Given the description of an element on the screen output the (x, y) to click on. 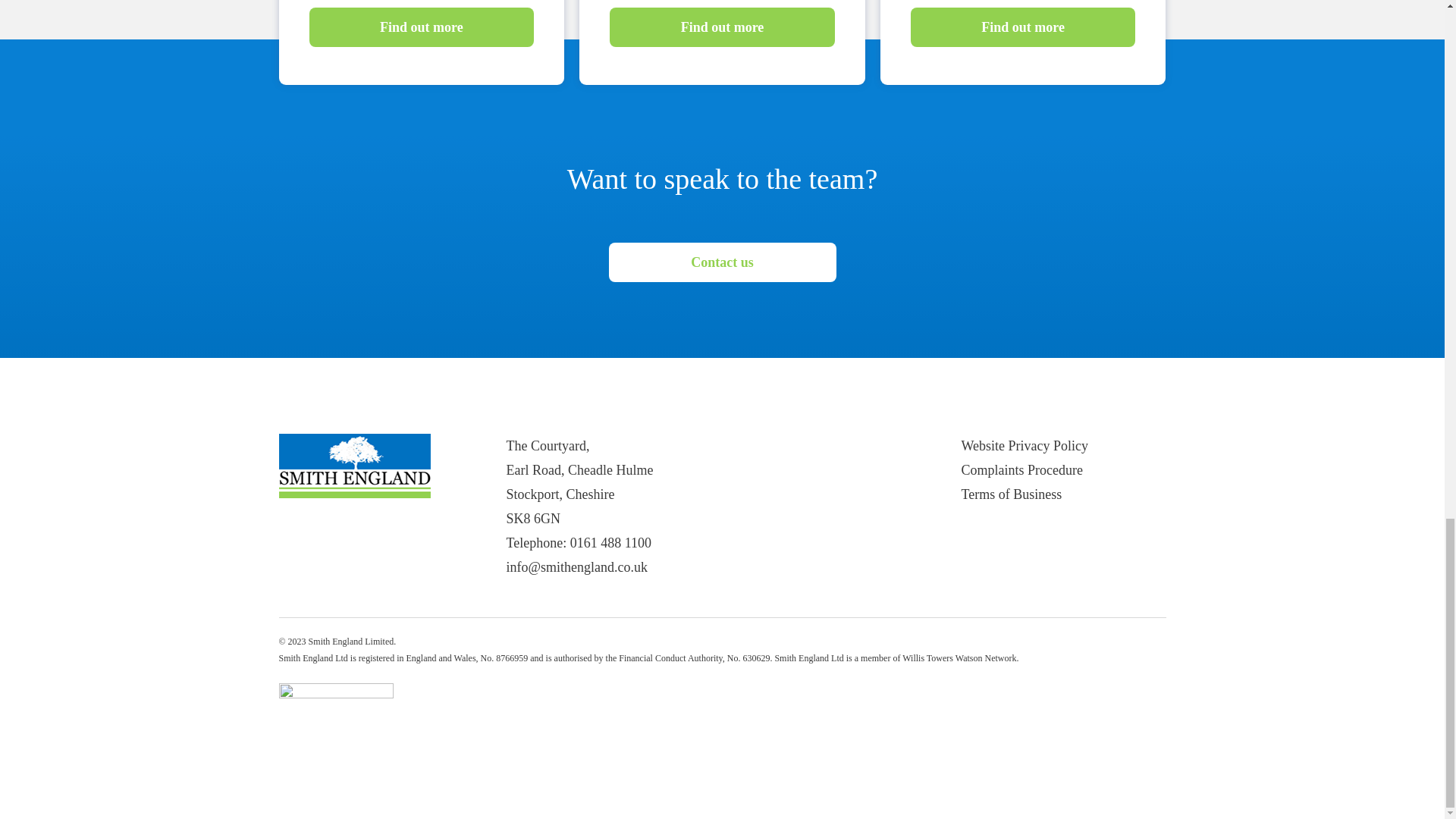
Find out more (722, 26)
Terms of Business (1011, 494)
Find out more (421, 26)
Website Privacy Policy (1024, 445)
0161 488 1100 (610, 542)
Contact us (721, 263)
Complaints Procedure (1021, 469)
Find out more (1023, 26)
Contact us (721, 261)
